Given the description of an element on the screen output the (x, y) to click on. 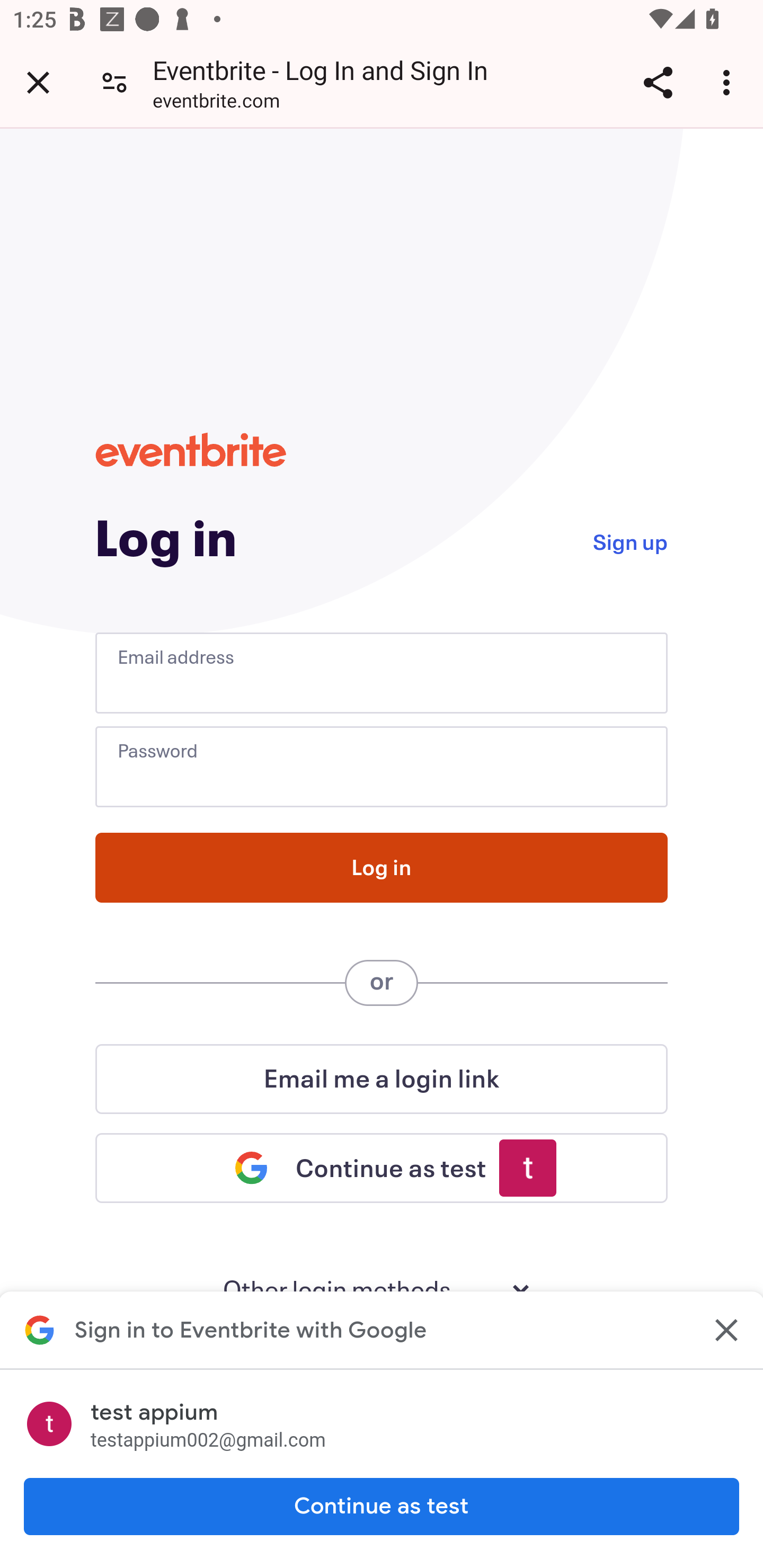
Close tab (38, 82)
Share (657, 82)
Customize and control Google Chrome (729, 82)
Connection is secure (114, 81)
eventbrite.com (216, 103)
www.eventbrite (190, 449)
Sign up (629, 540)
Log in (381, 867)
Email me a login link (381, 1078)
Close (725, 1329)
Continue as test (381, 1506)
